Given the description of an element on the screen output the (x, y) to click on. 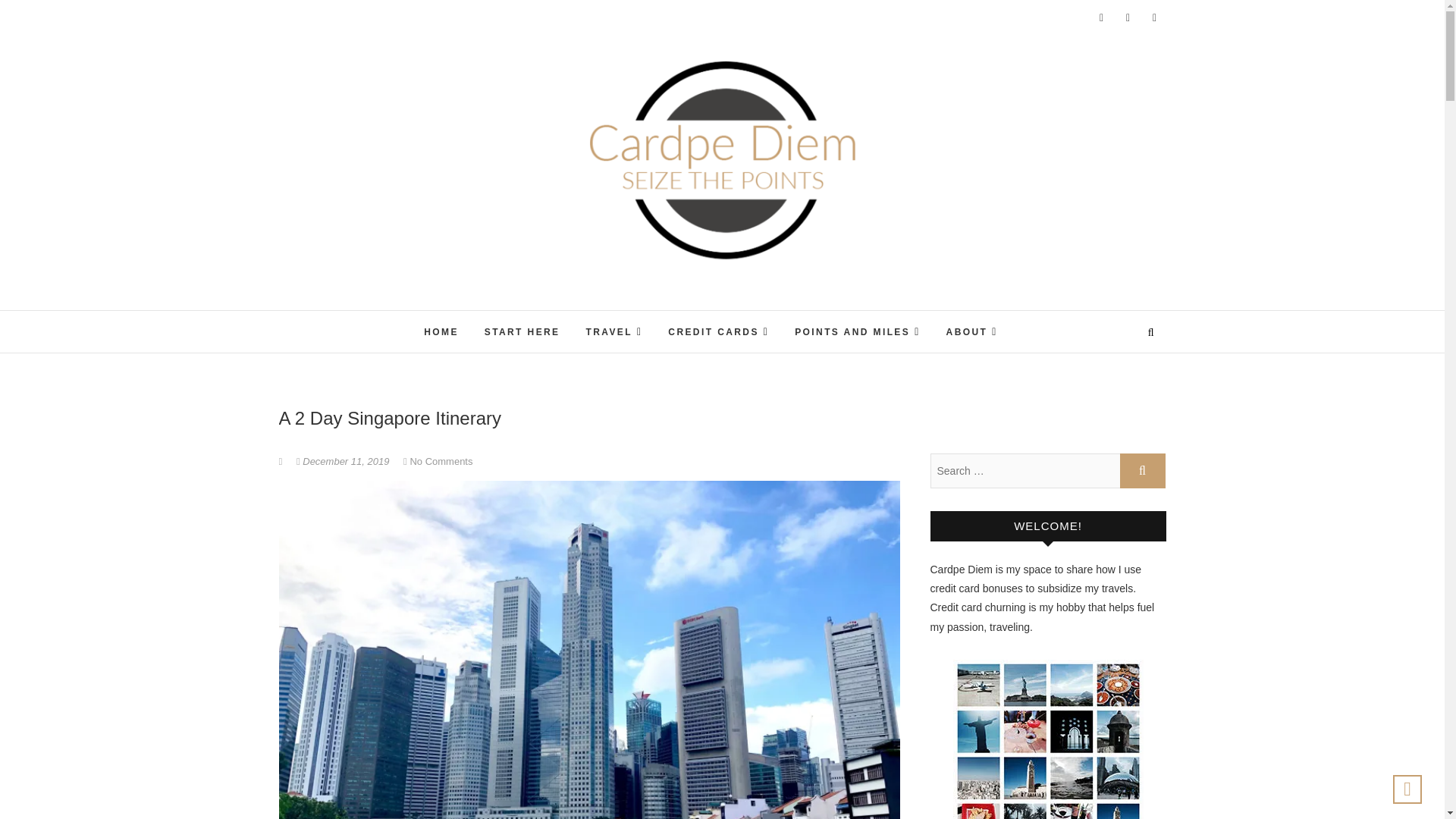
Cardpe Diem (633, 312)
6:00 am (344, 460)
Cardpe Diem (633, 312)
TRAVEL (613, 331)
POINTS AND MILES (857, 331)
HOME (441, 332)
CREDIT CARDS (718, 331)
START HERE (522, 332)
